Given the description of an element on the screen output the (x, y) to click on. 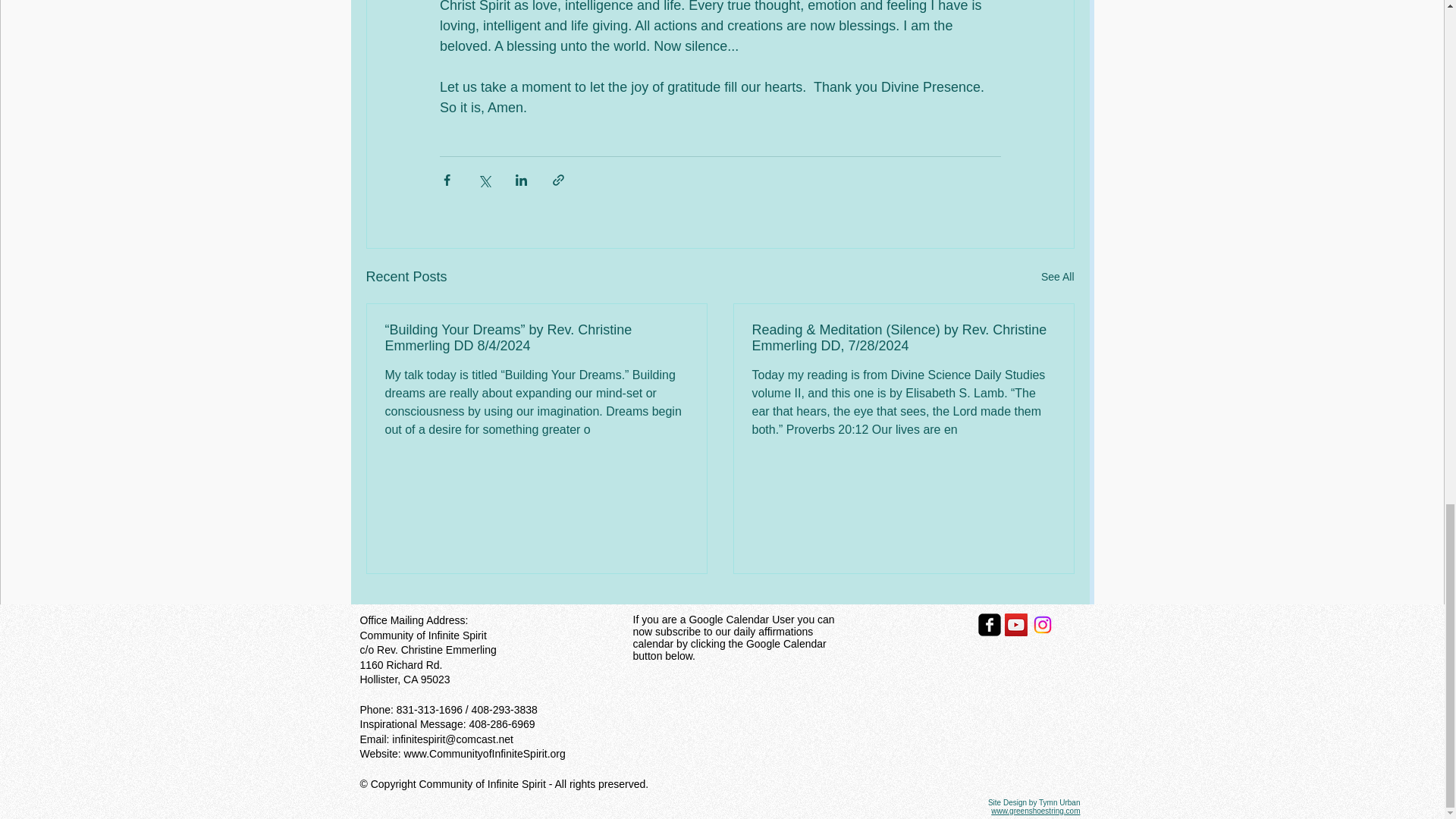
www.greenshoestring.com (1035, 810)
See All (1057, 277)
www.CommunityofInfiniteSpirit.org (485, 753)
